Given the description of an element on the screen output the (x, y) to click on. 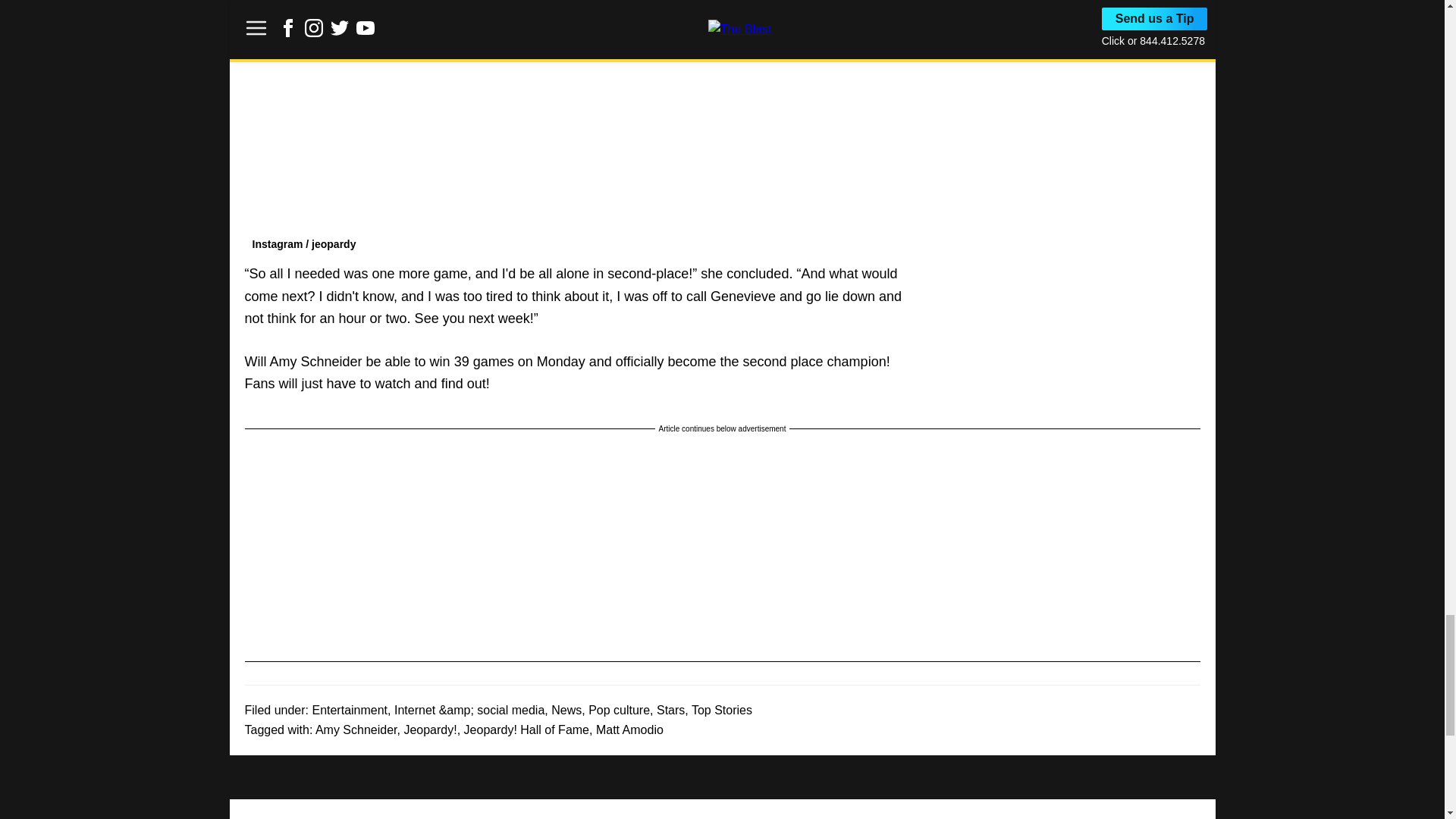
News (565, 709)
Entertainment (349, 709)
Pop culture (618, 709)
Matt Amodio (629, 729)
Jeopardy! Hall of Fame (526, 729)
Jeopardy! (430, 729)
Top Stories (721, 709)
Stars (670, 709)
Amy Schneider (356, 729)
